Given the description of an element on the screen output the (x, y) to click on. 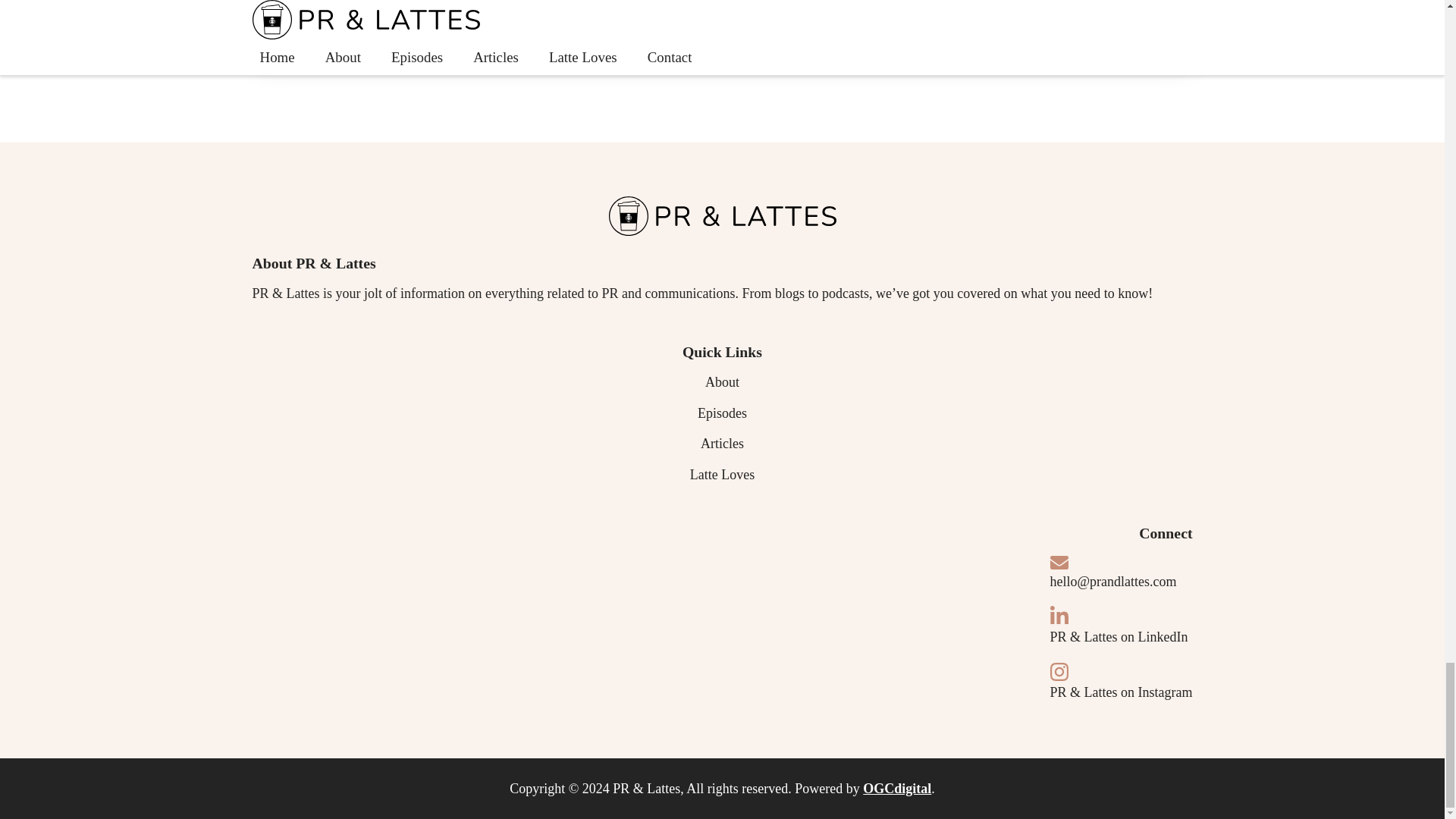
Episodes (721, 413)
About (346, 29)
